Given the description of an element on the screen output the (x, y) to click on. 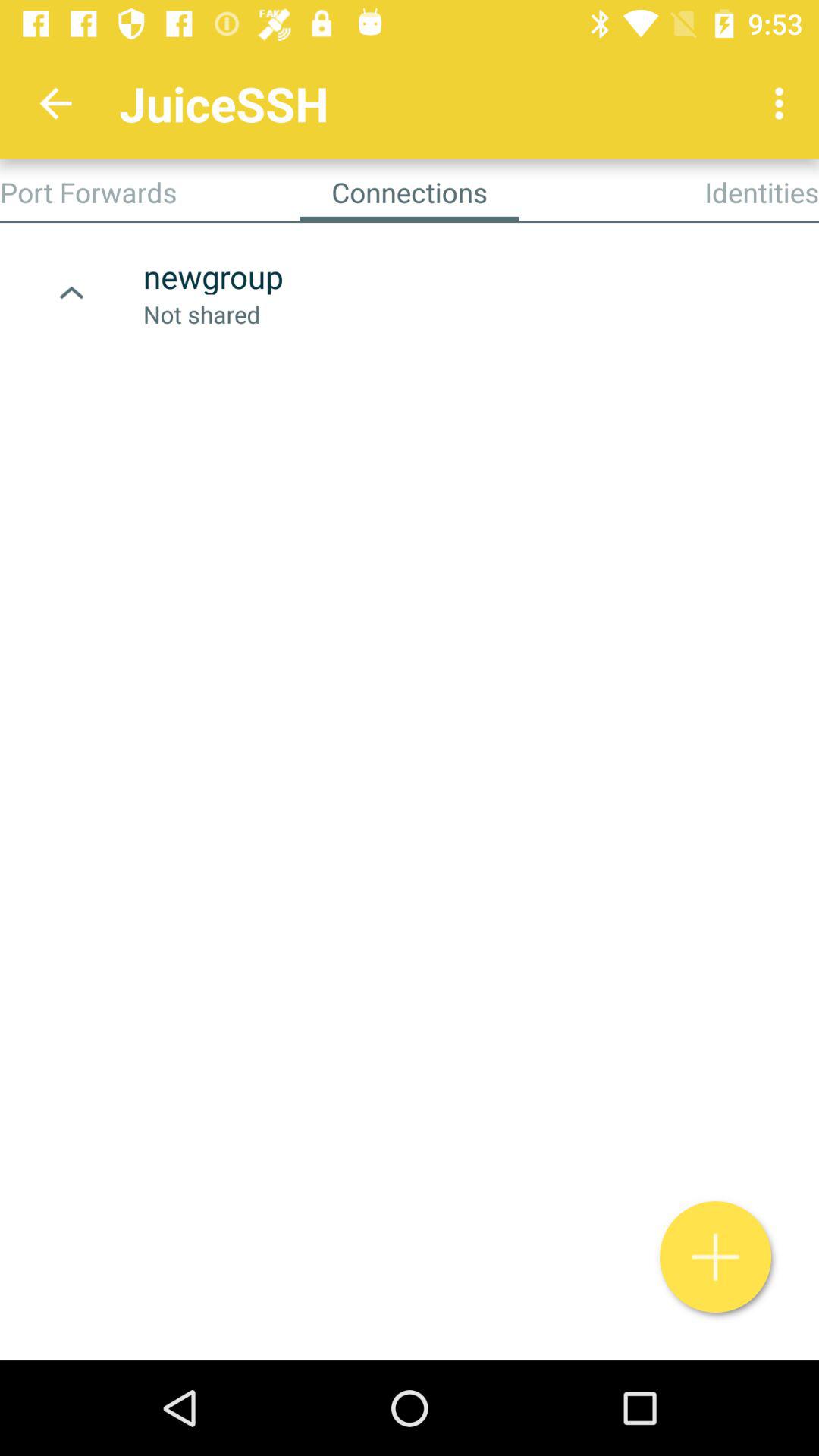
turn on the identities app (761, 192)
